Given the description of an element on the screen output the (x, y) to click on. 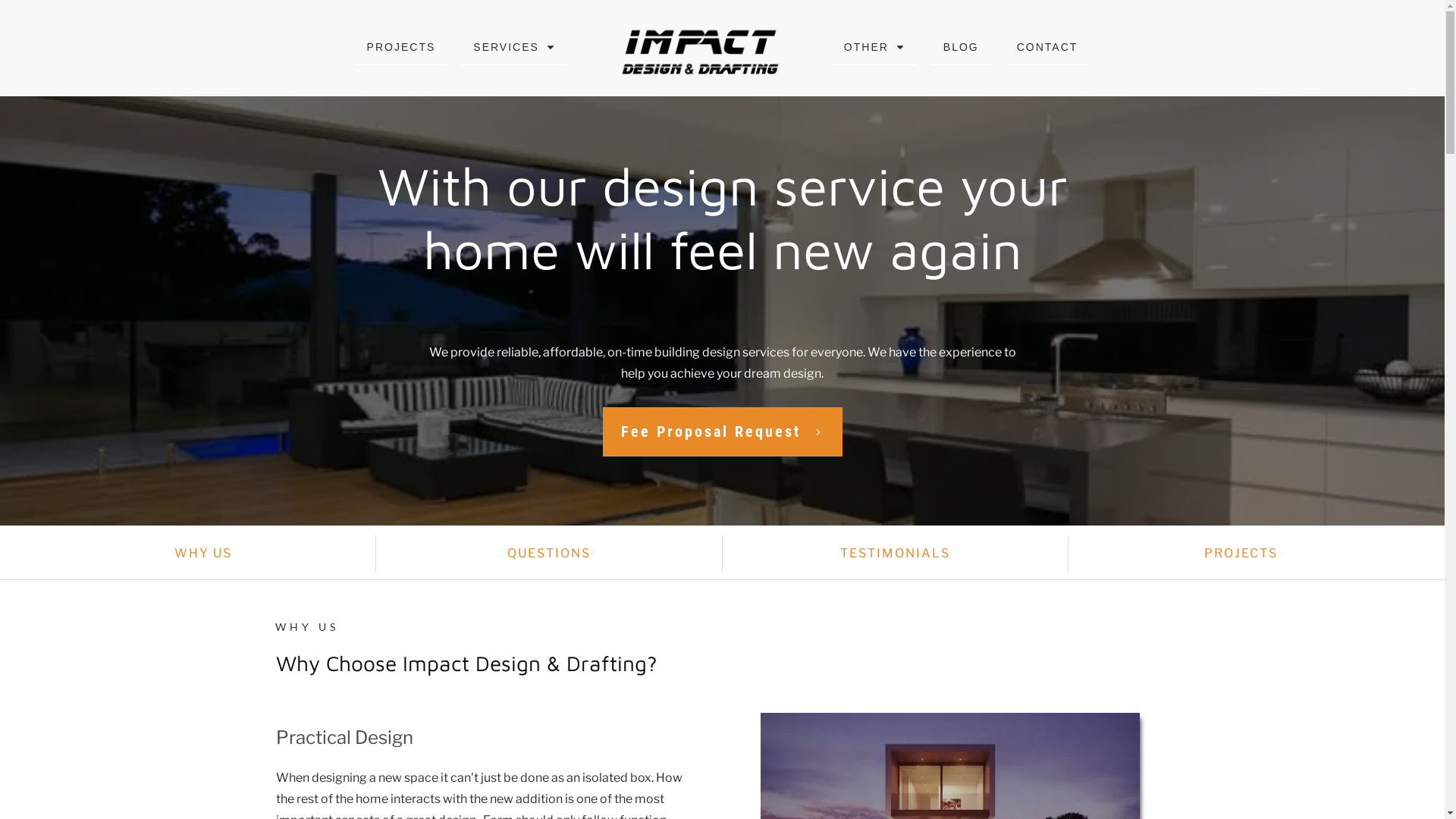
WHY US Element type: text (203, 553)
BLOG Element type: text (961, 46)
OTHER Element type: text (874, 46)
PROJECTS Element type: text (1240, 553)
Fee Proposal Request Element type: text (721, 431)
CONTACT Element type: text (1047, 46)
TESTIMONIALS Element type: text (895, 553)
QUESTIONS Element type: text (548, 553)
SERVICES Element type: text (514, 46)
PROJECTS Element type: text (401, 46)
